Given the description of an element on the screen output the (x, y) to click on. 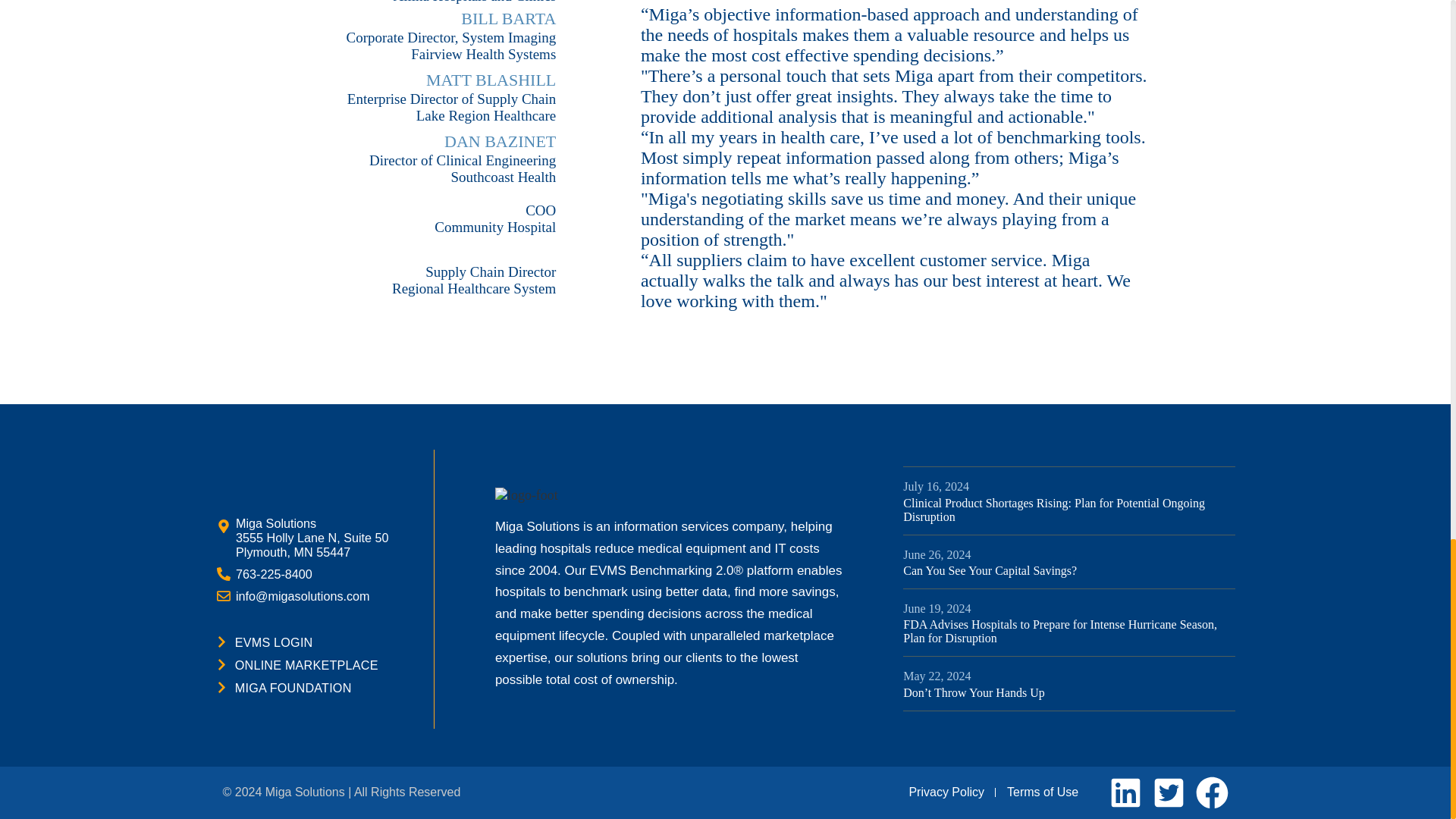
logo-foot (563, 495)
